Given the description of an element on the screen output the (x, y) to click on. 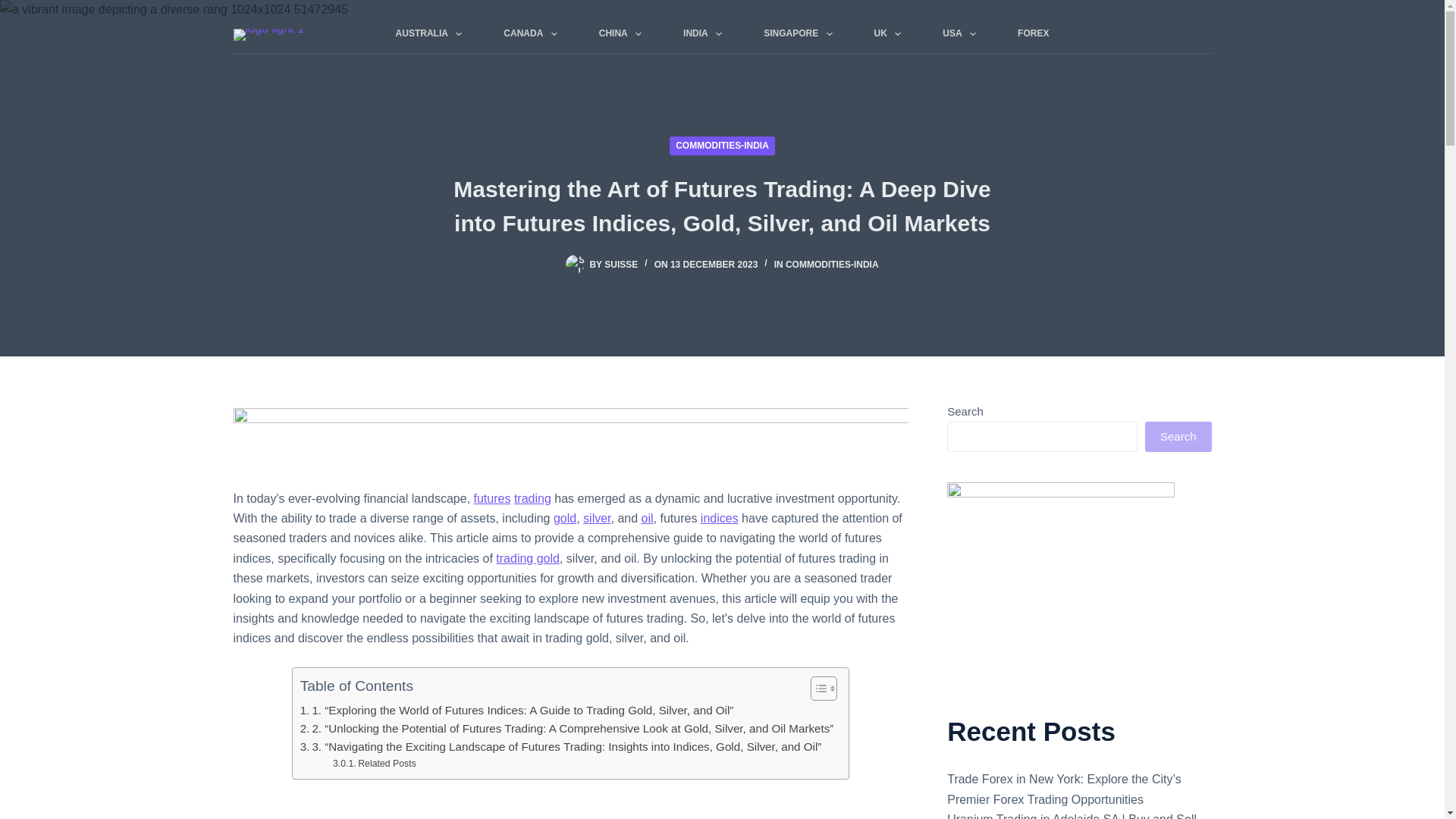
Skip to content (15, 7)
Posts tagged with Trading Gold (527, 558)
Posts tagged with silver (596, 517)
Posts tagged with indices (719, 517)
Posts tagged with futures (492, 498)
Posts tagged with trading (532, 498)
Related Posts (374, 764)
Posts tagged with gold (564, 517)
Posts tagged with oil (647, 517)
Posts by suisse (620, 264)
